Given the description of an element on the screen output the (x, y) to click on. 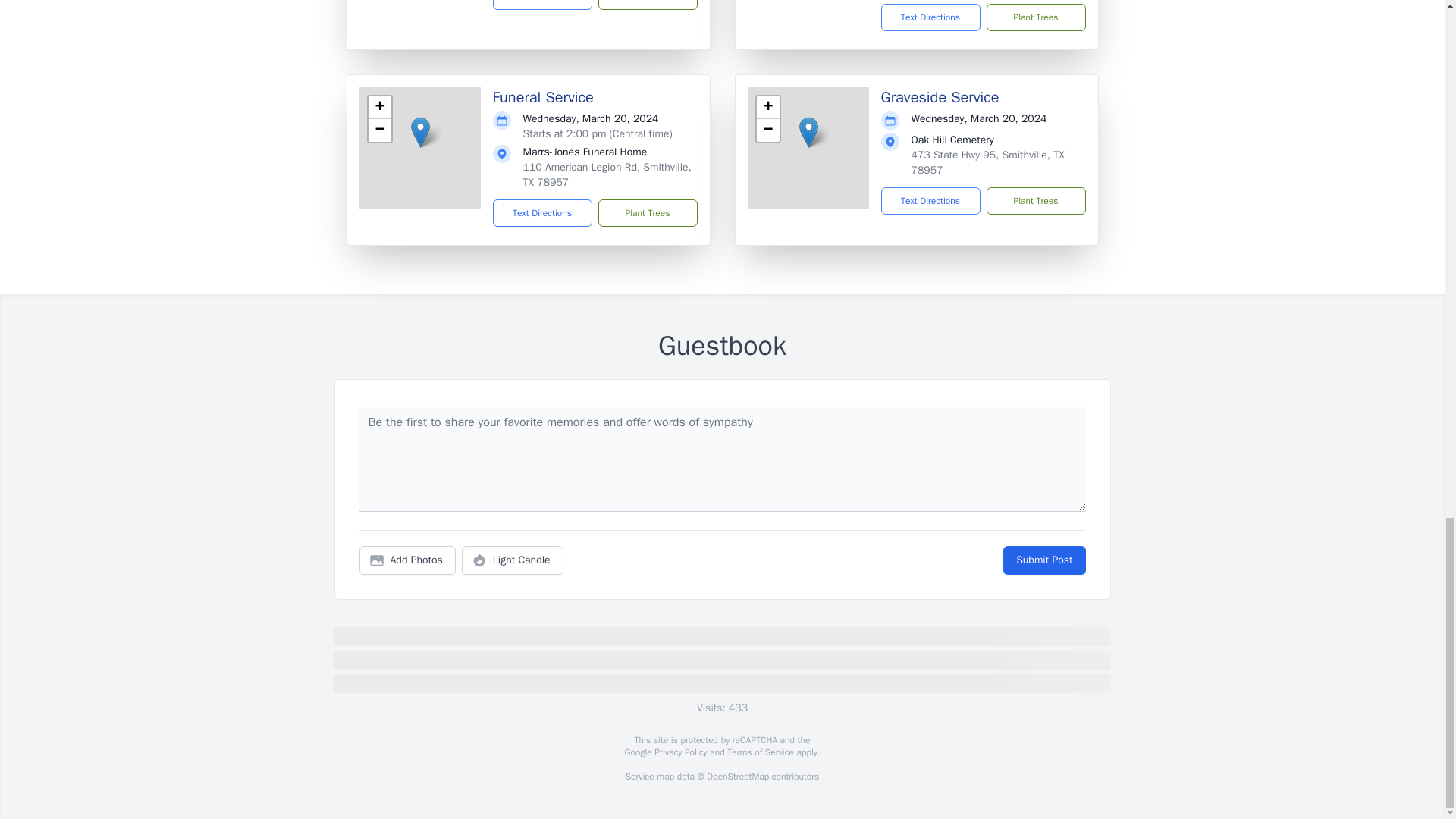
Zoom in (767, 107)
Plant Trees (646, 4)
Zoom in (379, 107)
Plant Trees (1034, 17)
110 American Legion Rd, Smithville, TX 78957 (606, 174)
Text Directions (929, 17)
Zoom out (379, 129)
Zoom out (767, 129)
Text Directions (542, 4)
